Given the description of an element on the screen output the (x, y) to click on. 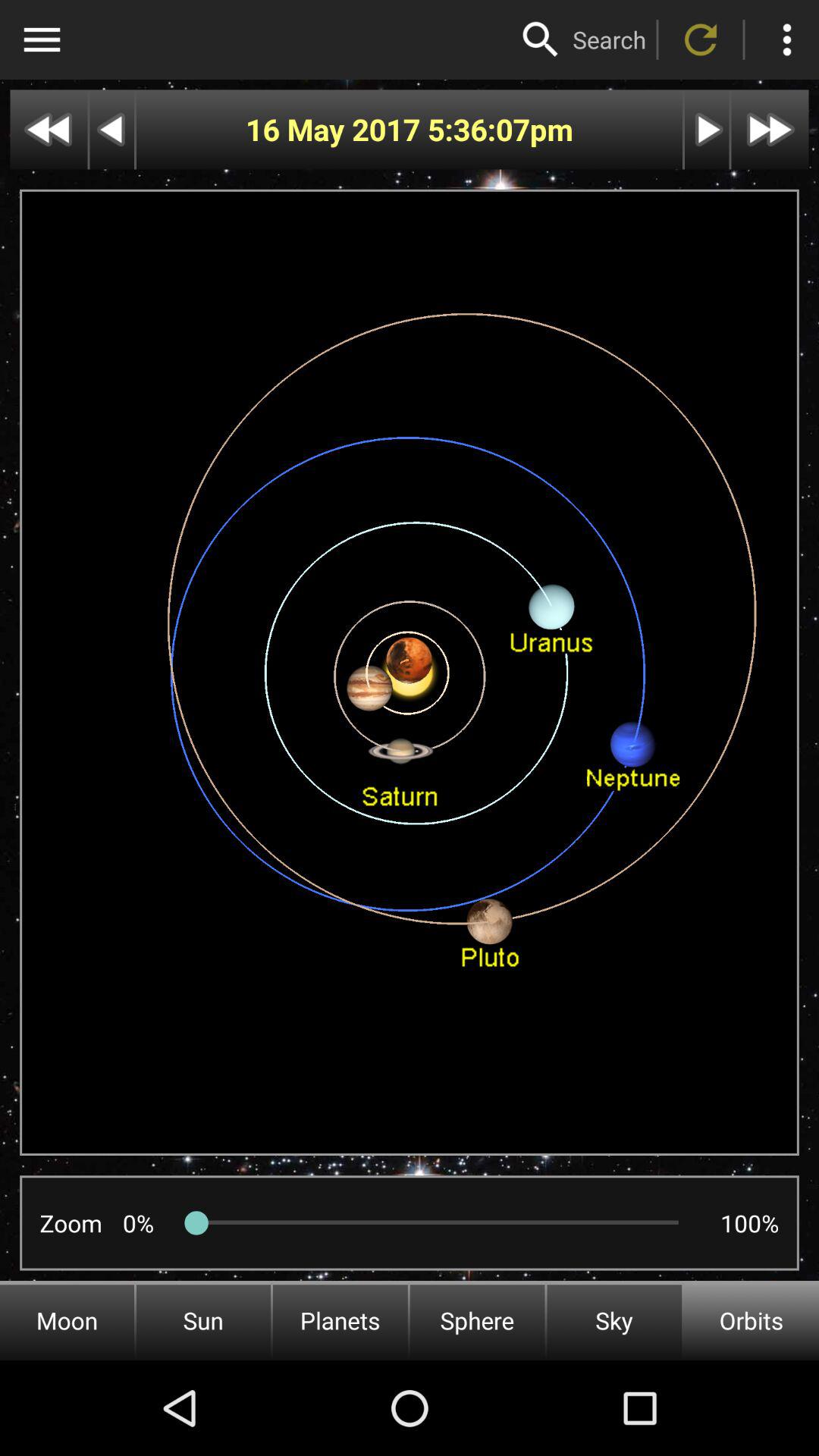
skip back further (48, 129)
